Given the description of an element on the screen output the (x, y) to click on. 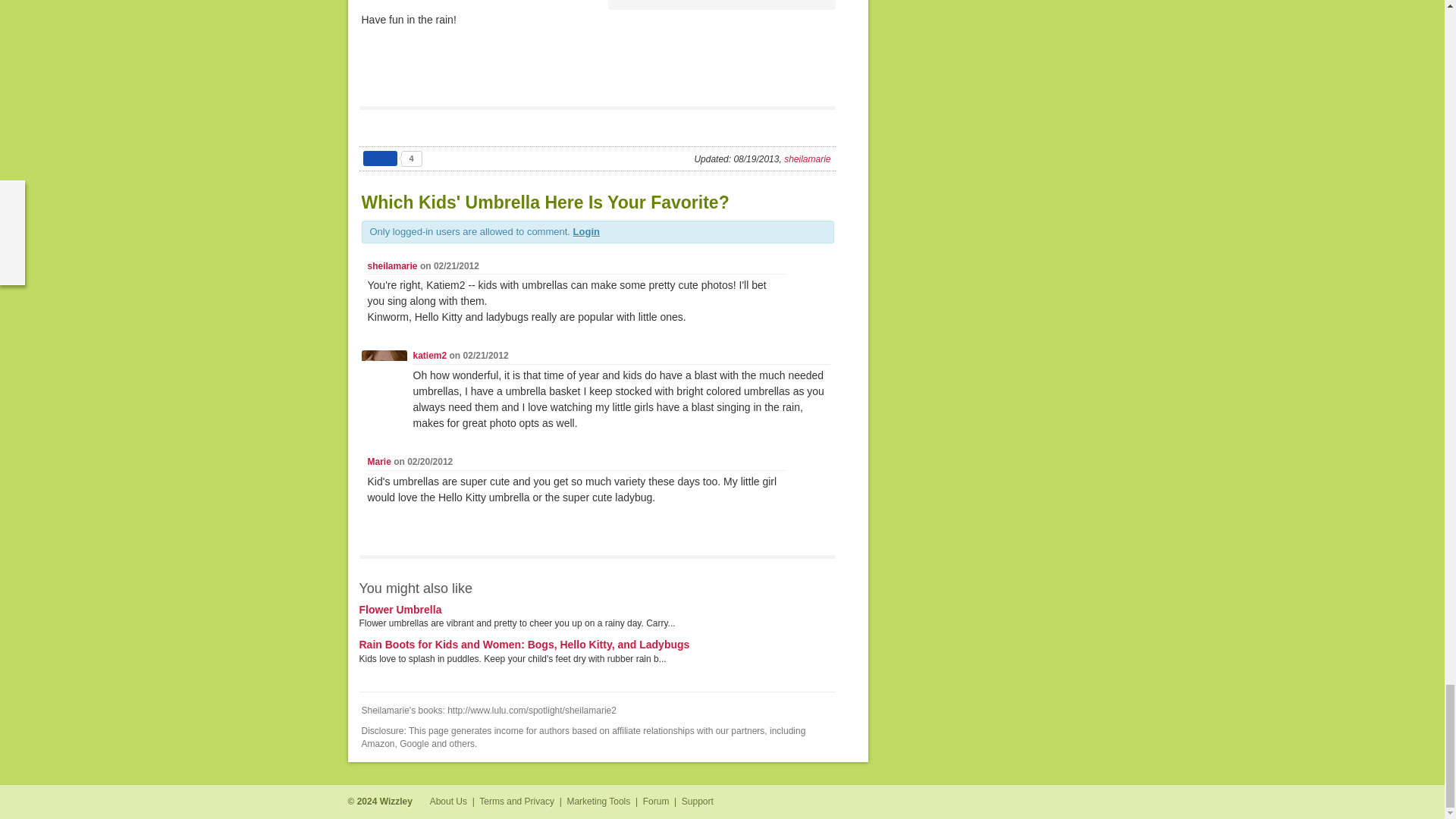
Twitter (1087, 802)
